Given the description of an element on the screen output the (x, y) to click on. 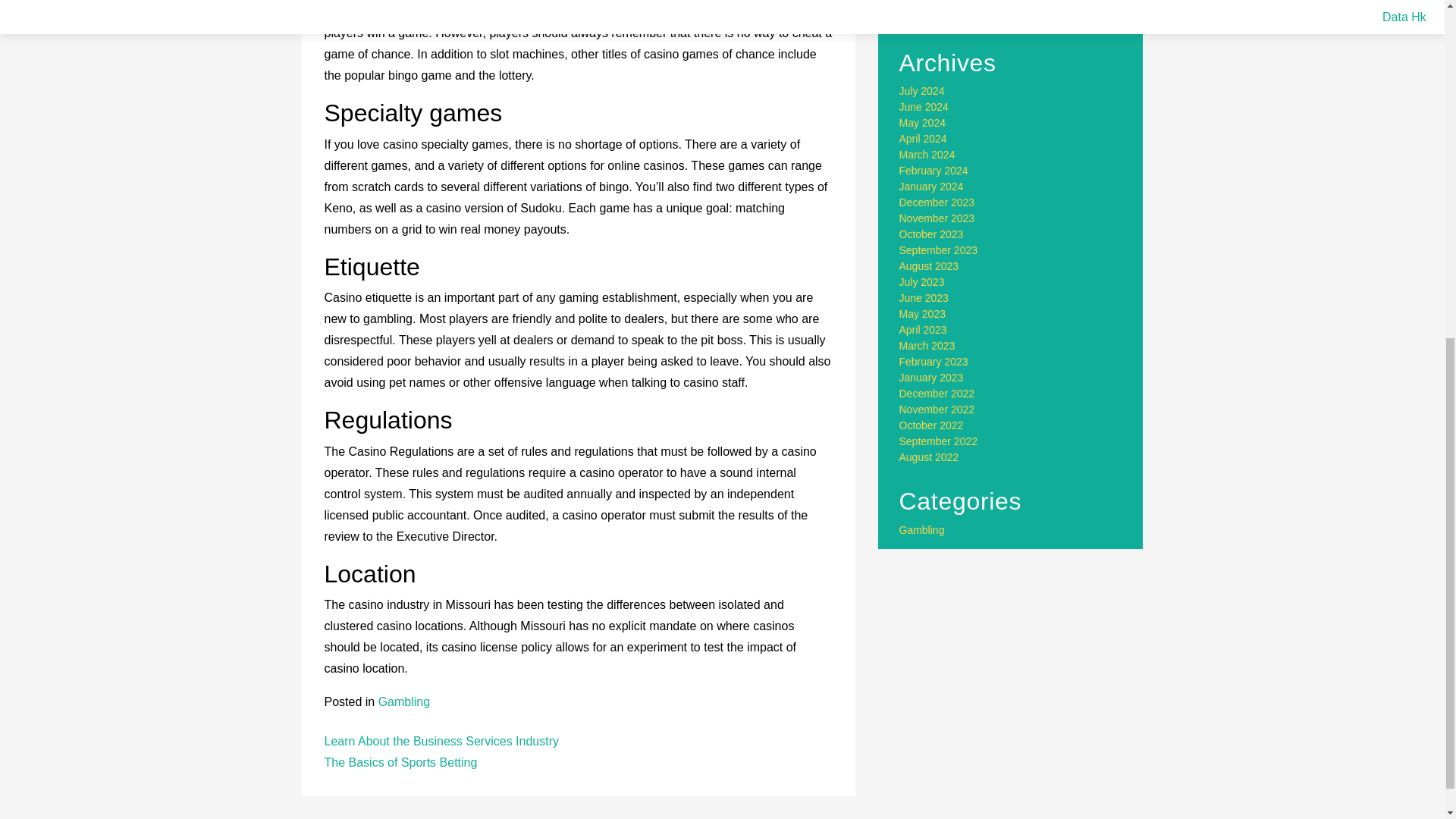
Gambling (921, 530)
April 2024 (923, 138)
January 2023 (931, 377)
May 2023 (921, 313)
April 2023 (923, 329)
June 2023 (924, 297)
August 2023 (929, 265)
September 2022 (938, 440)
Learn About the Business Services Industry (441, 740)
February 2024 (933, 170)
August 2022 (929, 457)
December 2022 (937, 393)
June 2024 (924, 106)
March 2023 (927, 345)
February 2023 (933, 361)
